Given the description of an element on the screen output the (x, y) to click on. 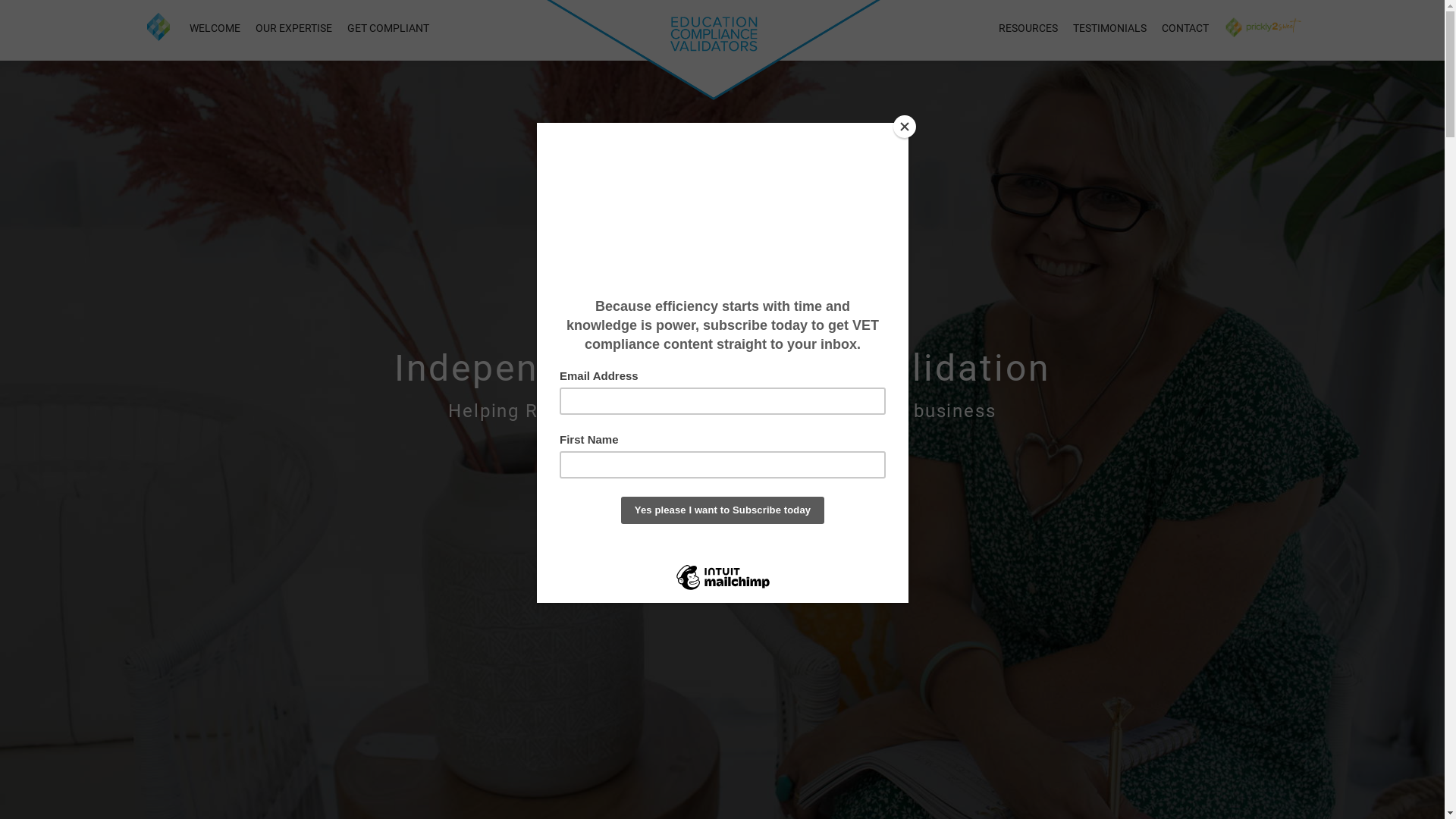
CONTACT Element type: text (1185, 30)
WELCOME Element type: text (214, 30)
TESTIMONIALS Element type: text (1109, 30)
RESOURCES Element type: text (1028, 30)
GET COMPLIANT Element type: text (387, 30)
OUR EXPERTISE Element type: text (292, 30)
More Information Element type: text (722, 493)
